Given the description of an element on the screen output the (x, y) to click on. 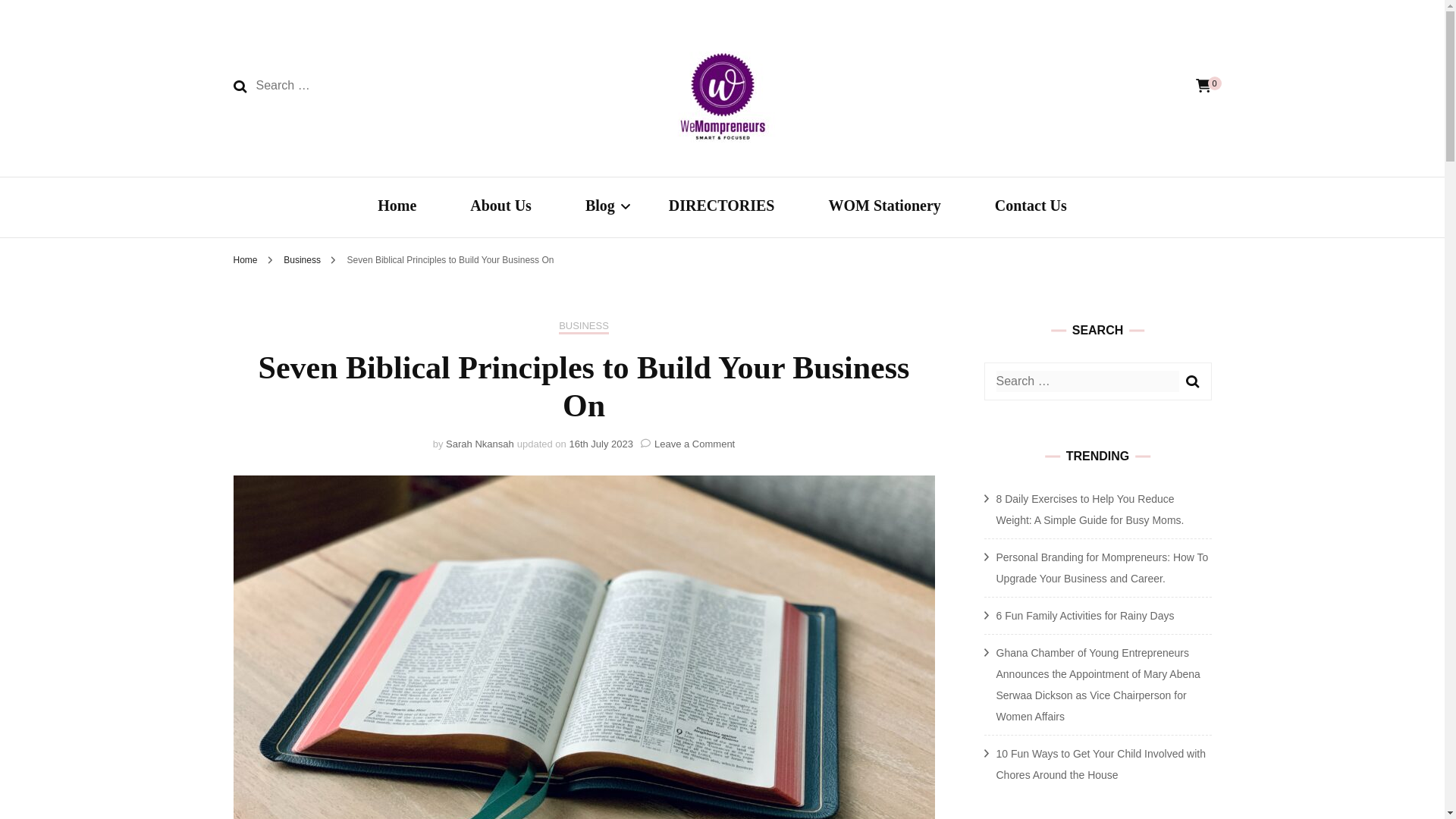
View your shopping basket (1203, 85)
About Us (500, 207)
0 (1203, 85)
DIRECTORIES (721, 207)
Sarah Nkansah (479, 443)
Business (303, 259)
Search (239, 86)
Home (396, 207)
WOM Stationery (884, 207)
